Given the description of an element on the screen output the (x, y) to click on. 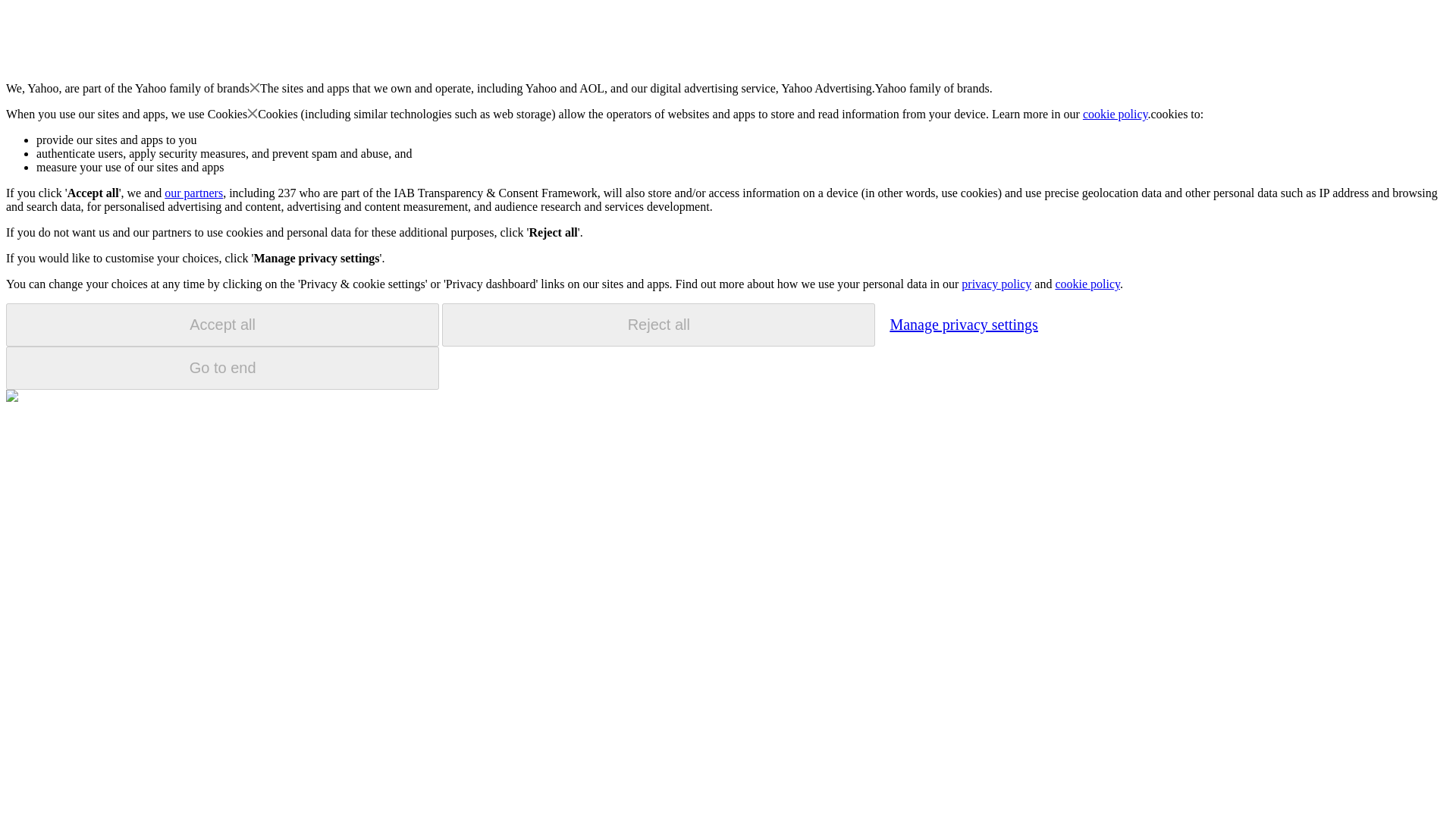
Go to end (222, 367)
cookie policy (1115, 113)
privacy policy (995, 283)
Reject all (658, 324)
cookie policy (1086, 283)
our partners (193, 192)
Accept all (222, 324)
Manage privacy settings (963, 323)
